Given the description of an element on the screen output the (x, y) to click on. 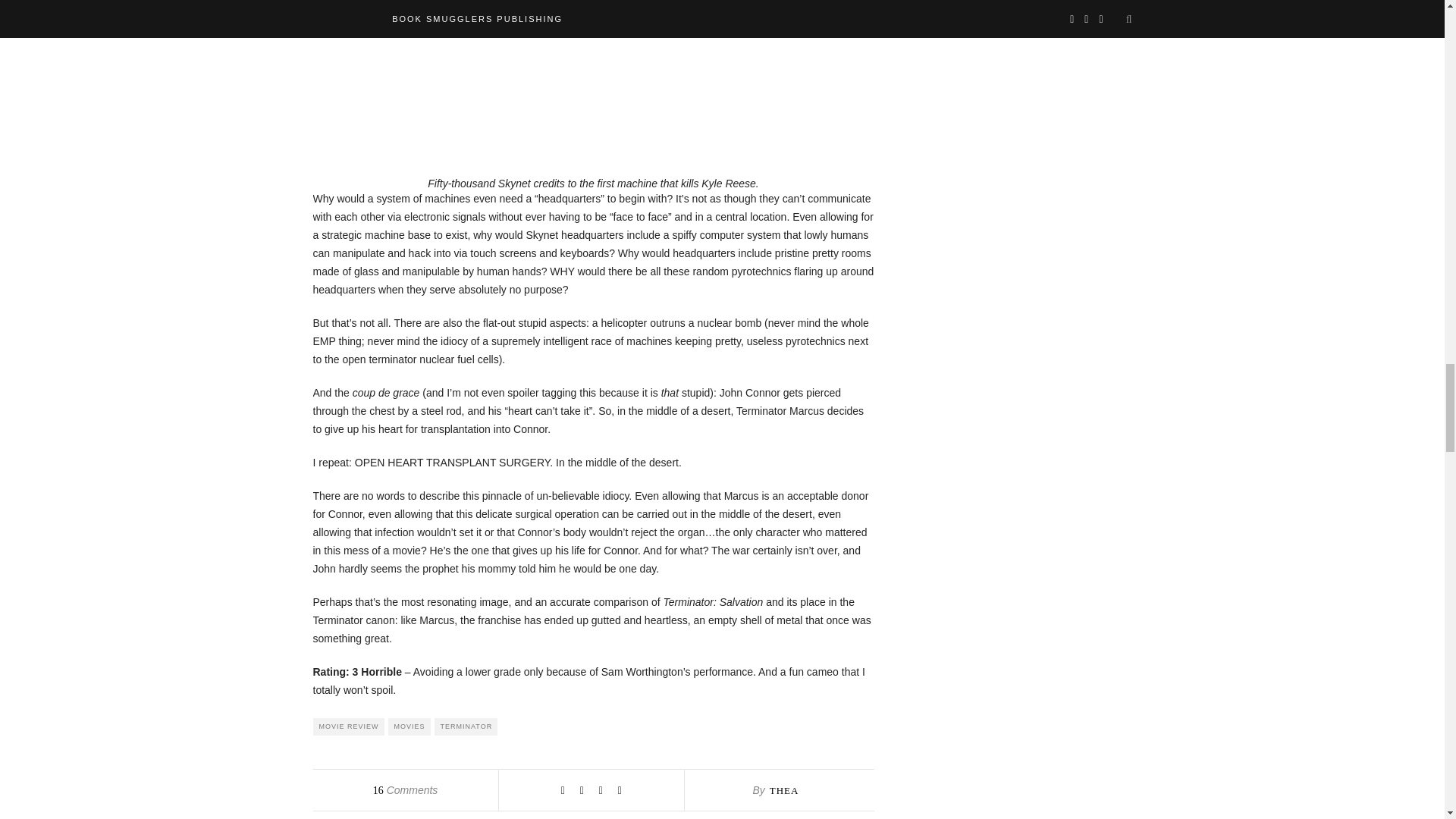
TERMINATOR (465, 726)
kyle-reese (584, 73)
MOVIES (409, 726)
THEA (784, 790)
Posts by Thea (784, 790)
16 Comments (405, 789)
MOVIE REVIEW (348, 726)
